Given the description of an element on the screen output the (x, y) to click on. 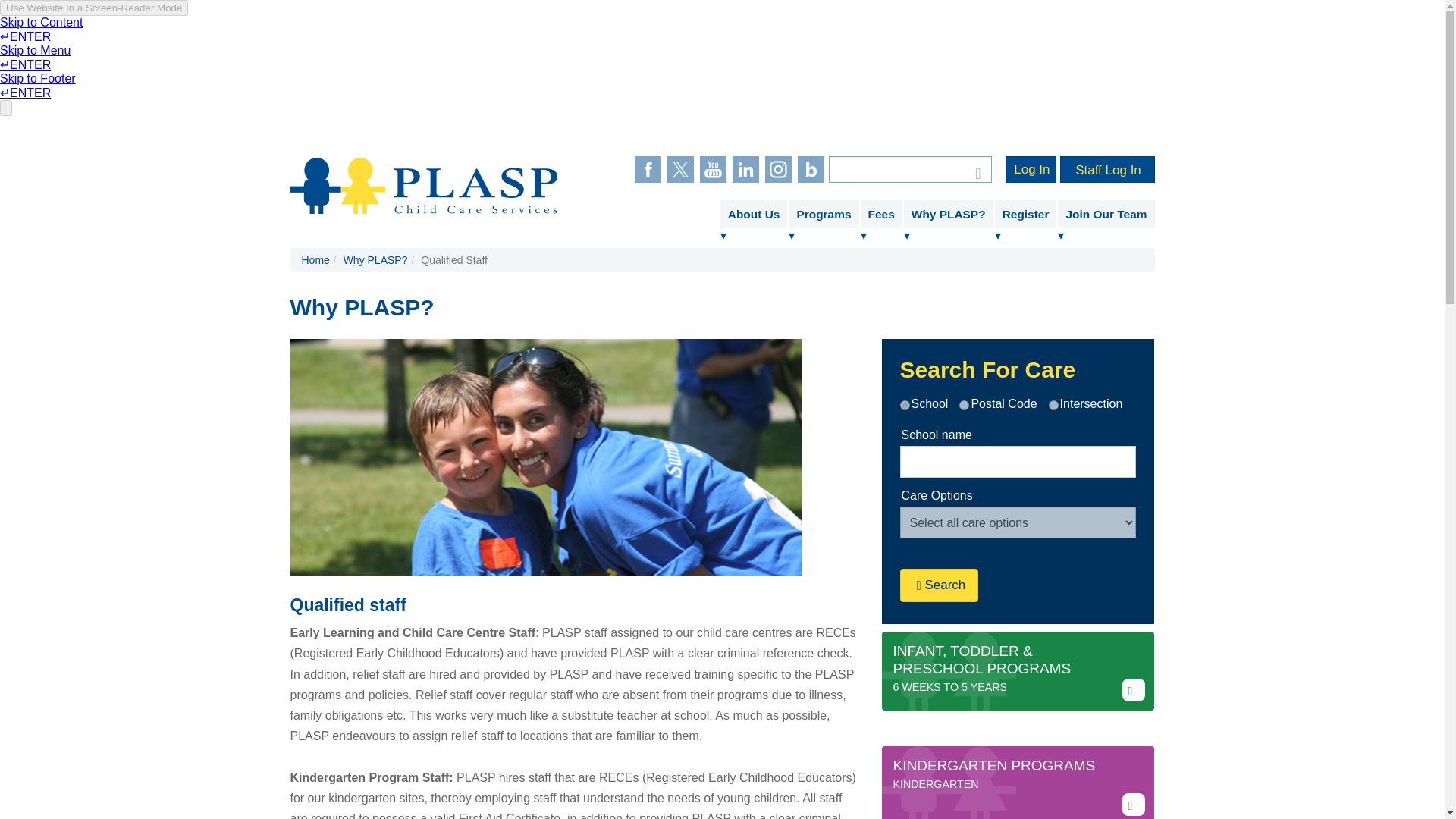
0 (903, 405)
About Us (753, 213)
2 (1053, 405)
About Us (753, 213)
Logo of PLASP Childcare Services (422, 184)
Fees (881, 213)
1 (964, 405)
Programs (824, 213)
Staff Log In (1106, 169)
